Given the description of an element on the screen output the (x, y) to click on. 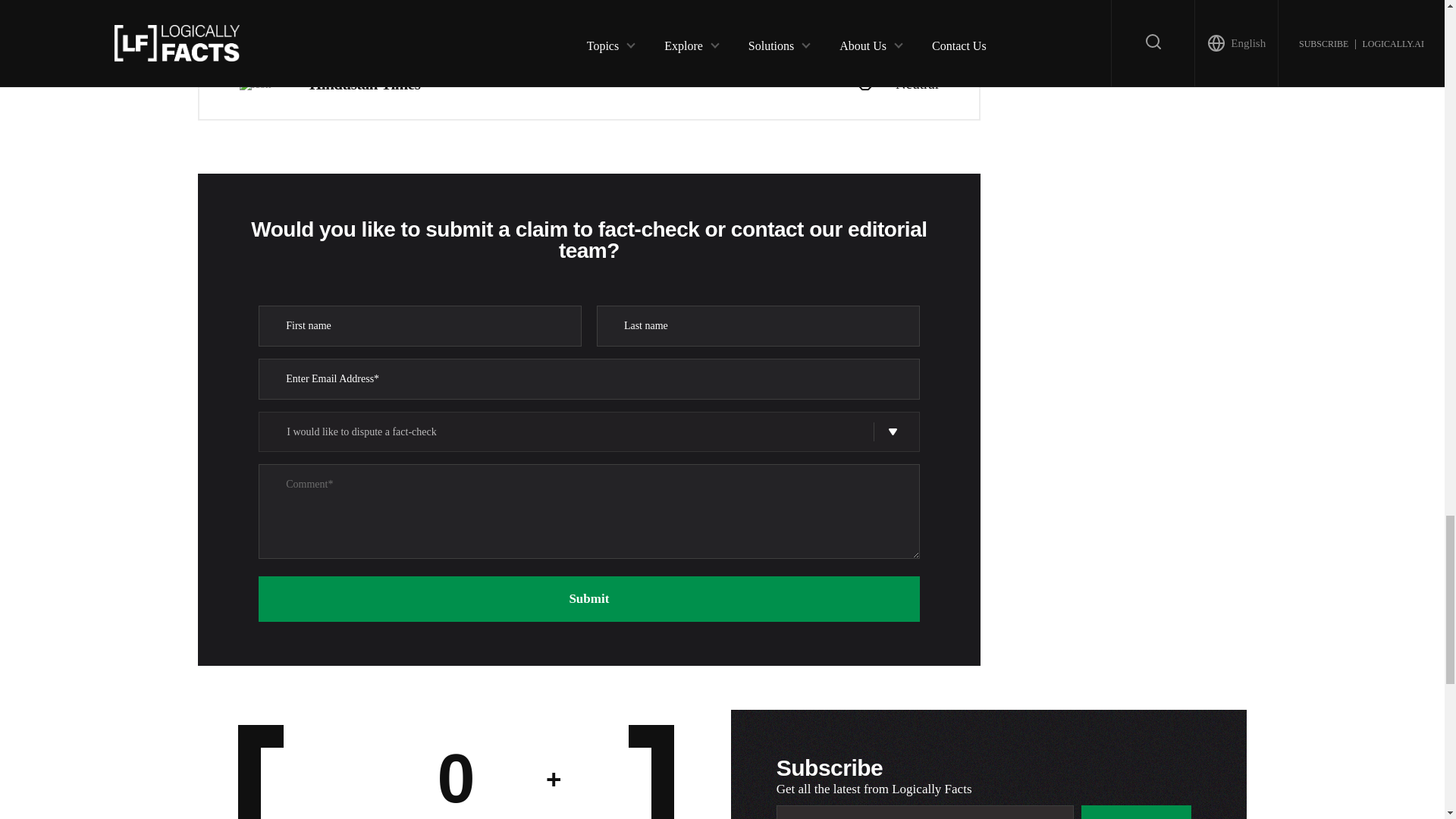
Submit (588, 598)
Submit (1136, 812)
